Given the description of an element on the screen output the (x, y) to click on. 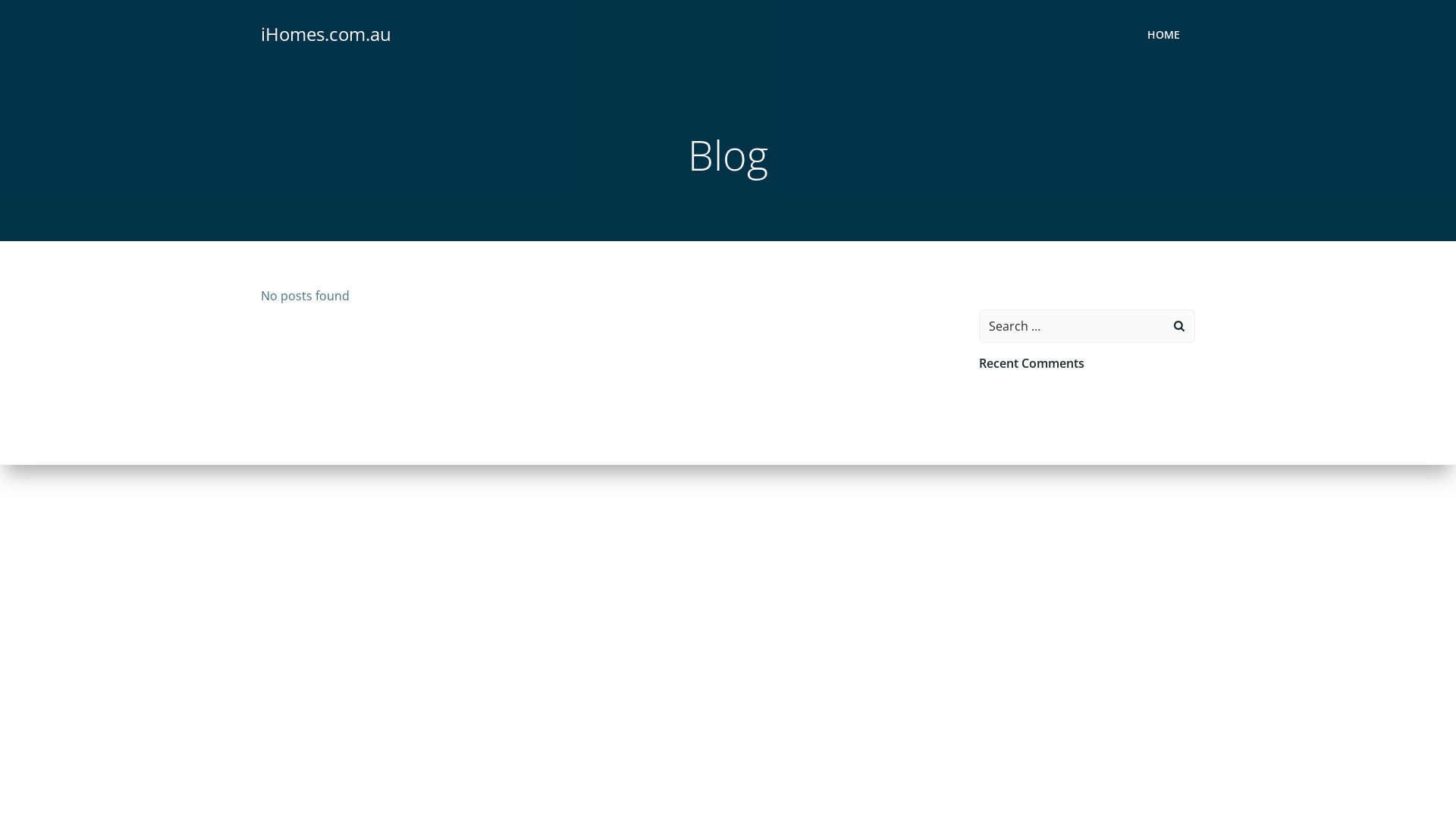
HOME Element type: text (1163, 33)
Search  Element type: text (29, 15)
iHomes.com.au Element type: text (325, 33)
